Given the description of an element on the screen output the (x, y) to click on. 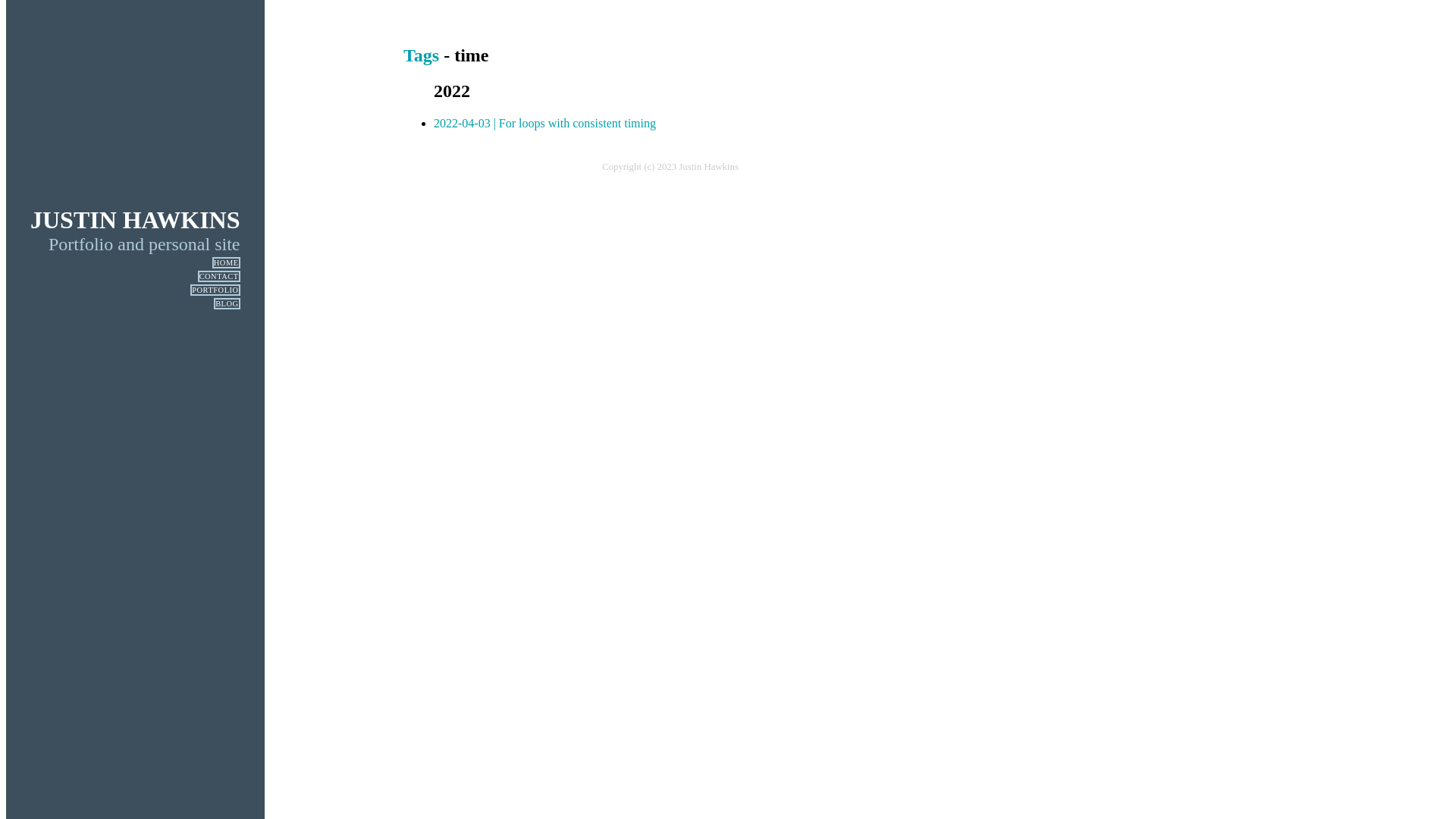
HOME Element type: text (226, 262)
Tags Element type: text (421, 55)
PORTFOLIO Element type: text (214, 289)
BLOG Element type: text (226, 303)
CONTACT Element type: text (218, 276)
2022-04-03 | For loops with consistent timing Element type: text (544, 122)
